Given the description of an element on the screen output the (x, y) to click on. 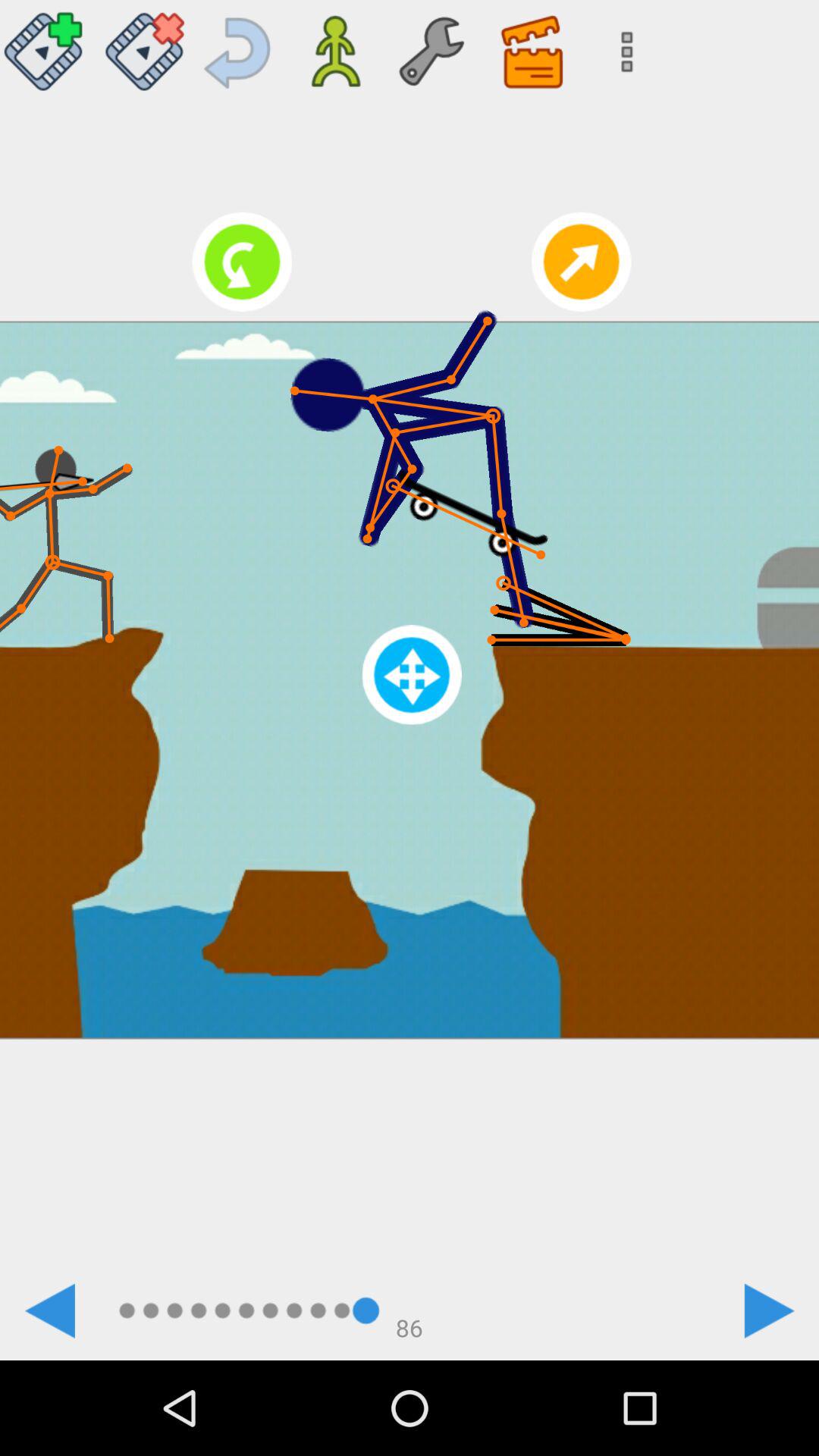
more options (621, 45)
